Given the description of an element on the screen output the (x, y) to click on. 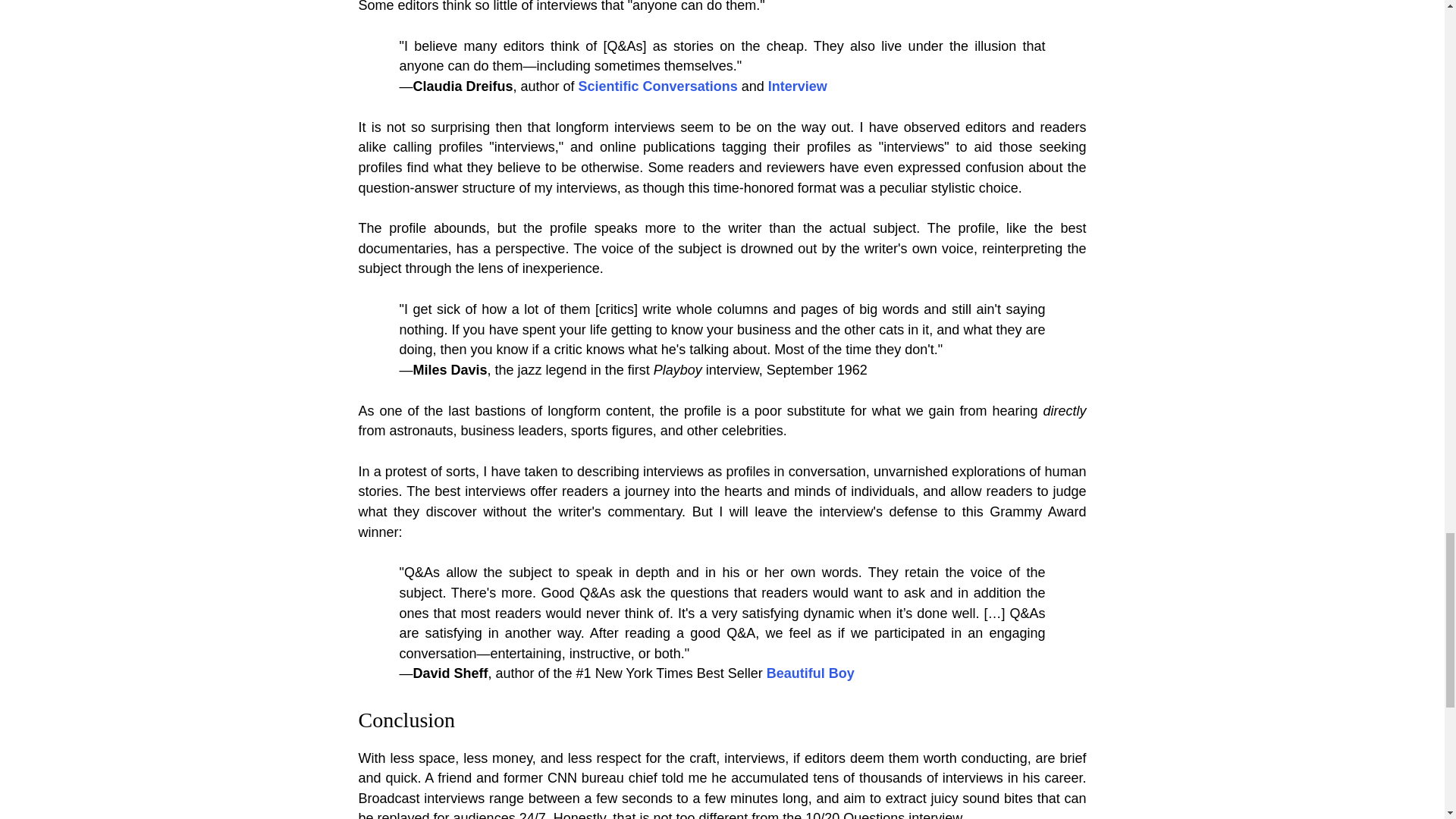
Scientific Conversations (658, 86)
Beautiful Boy (810, 672)
Interview (797, 86)
